Given the description of an element on the screen output the (x, y) to click on. 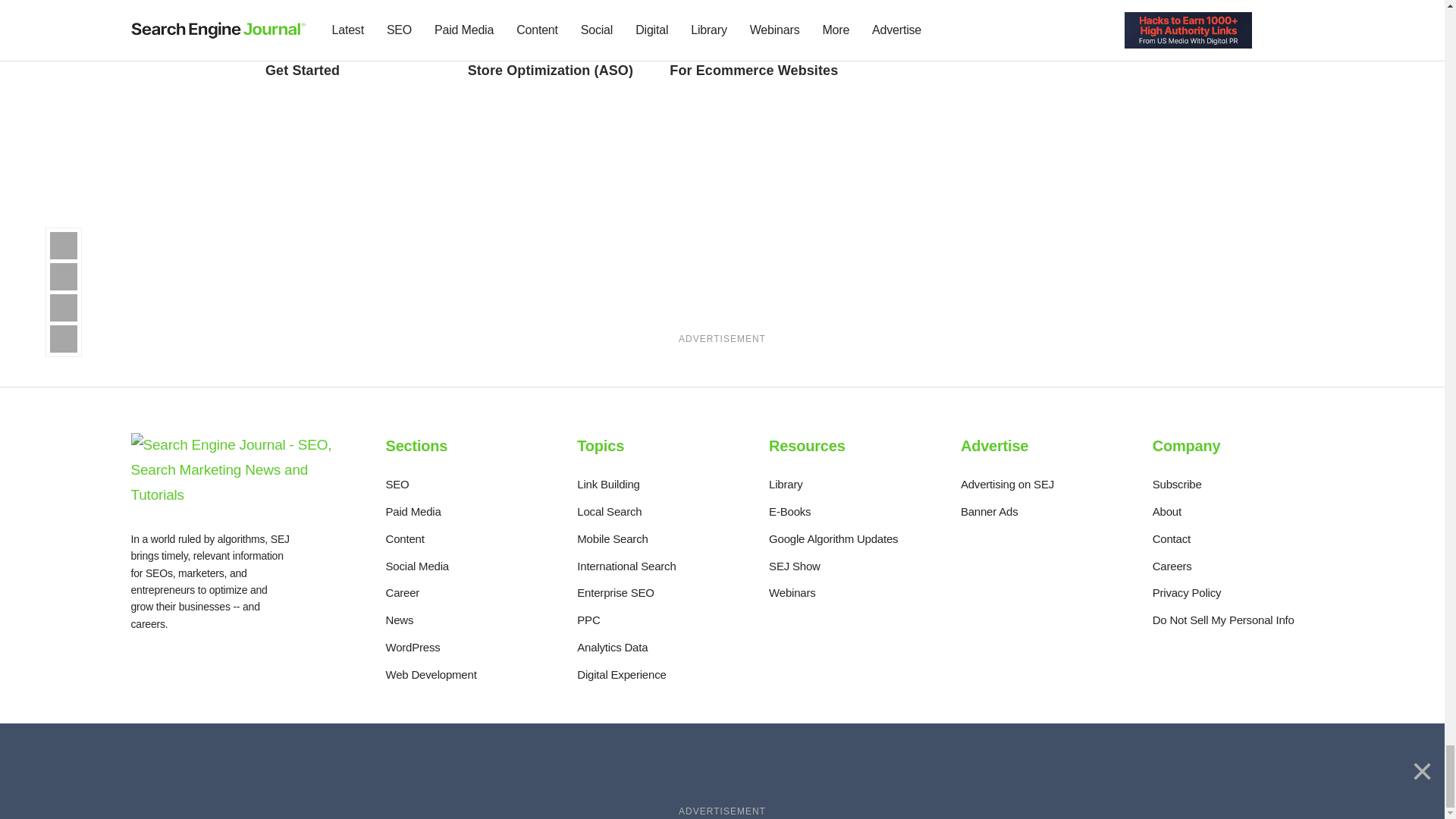
Read the Article (552, 61)
Read the Article (753, 61)
Read the Article (347, 61)
Read the Article (755, 19)
Read the Article (553, 19)
Read the Article (351, 19)
